Given the description of an element on the screen output the (x, y) to click on. 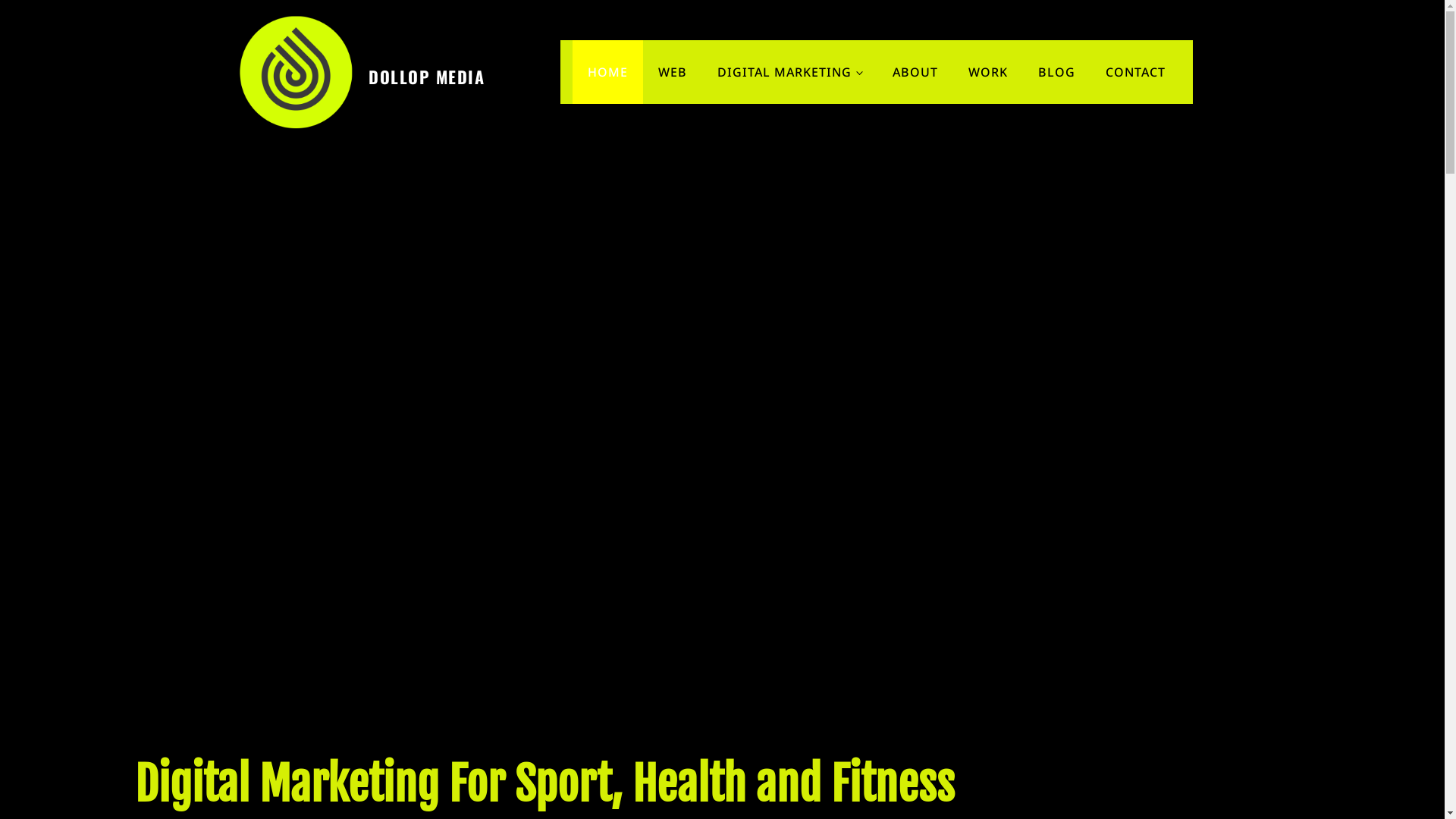
ABOUT Element type: text (915, 71)
DIGITAL MARKETING Element type: text (789, 71)
HOME Element type: text (607, 71)
BLOG Element type: text (1056, 71)
CONTACT Element type: text (1135, 71)
WEB Element type: text (672, 71)
WORK Element type: text (987, 71)
